Given the description of an element on the screen output the (x, y) to click on. 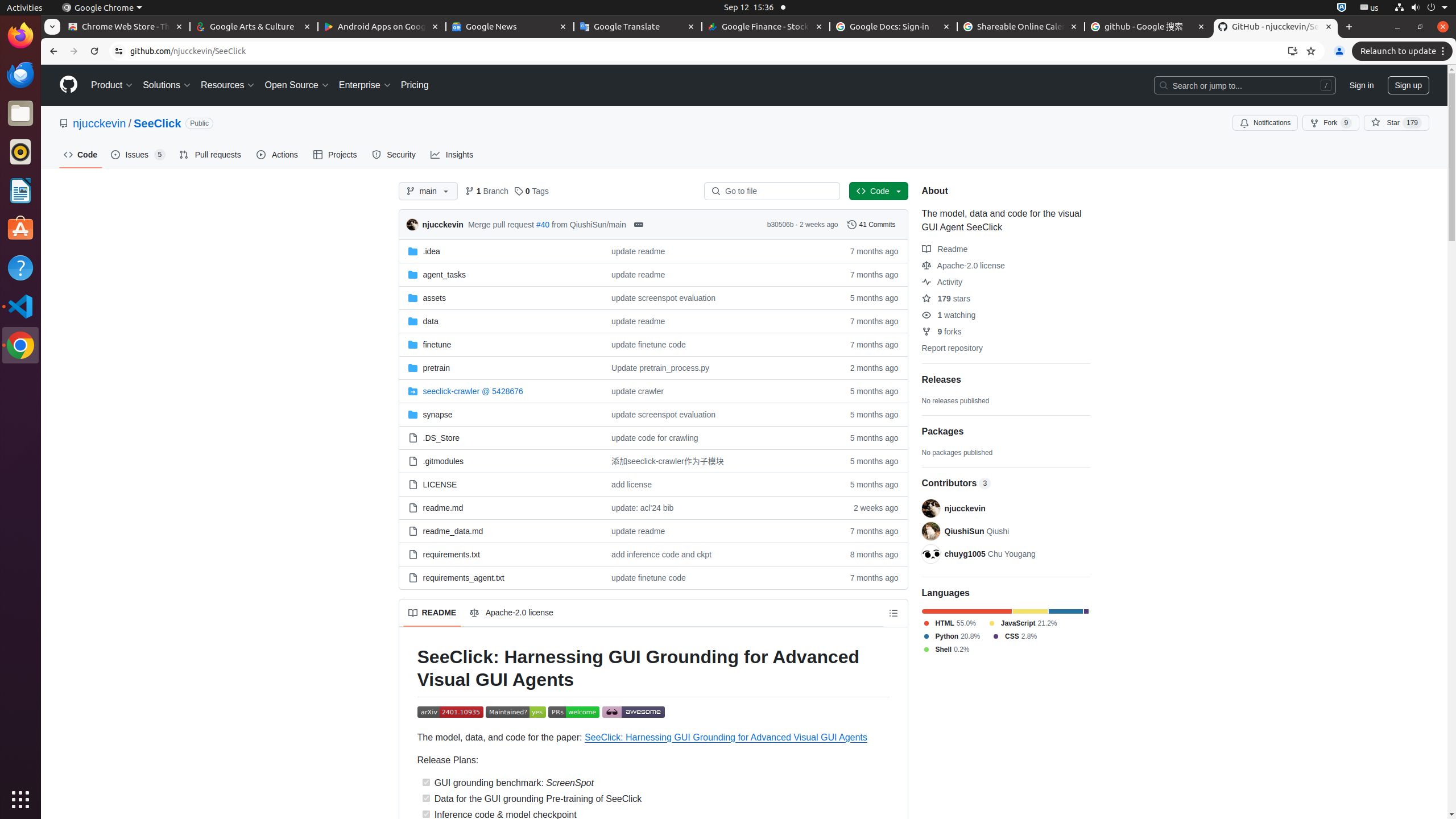
agent_tasks, (Directory) Element type: link (443, 274)
Search or jump to… Element type: push-button (1244, 84)
Folders and files Element type: table (653, 399)
Install GitHub Element type: push-button (1292, 51)
update readme Element type: link (638, 250)
